Given the description of an element on the screen output the (x, y) to click on. 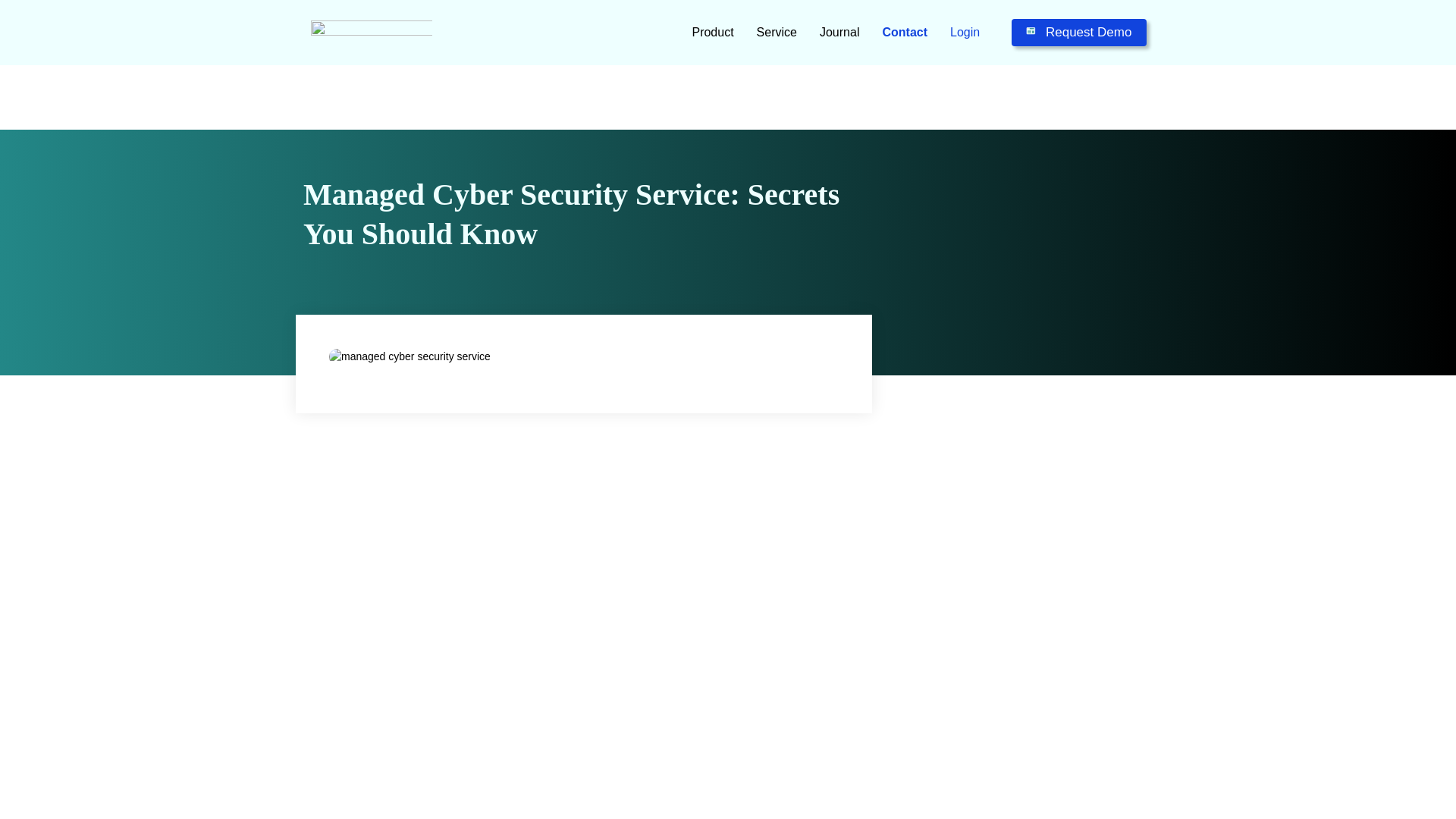
Request Demo (1079, 31)
Login (965, 32)
Product (711, 32)
Contact (904, 32)
Service (776, 32)
Journal (839, 32)
